Given the description of an element on the screen output the (x, y) to click on. 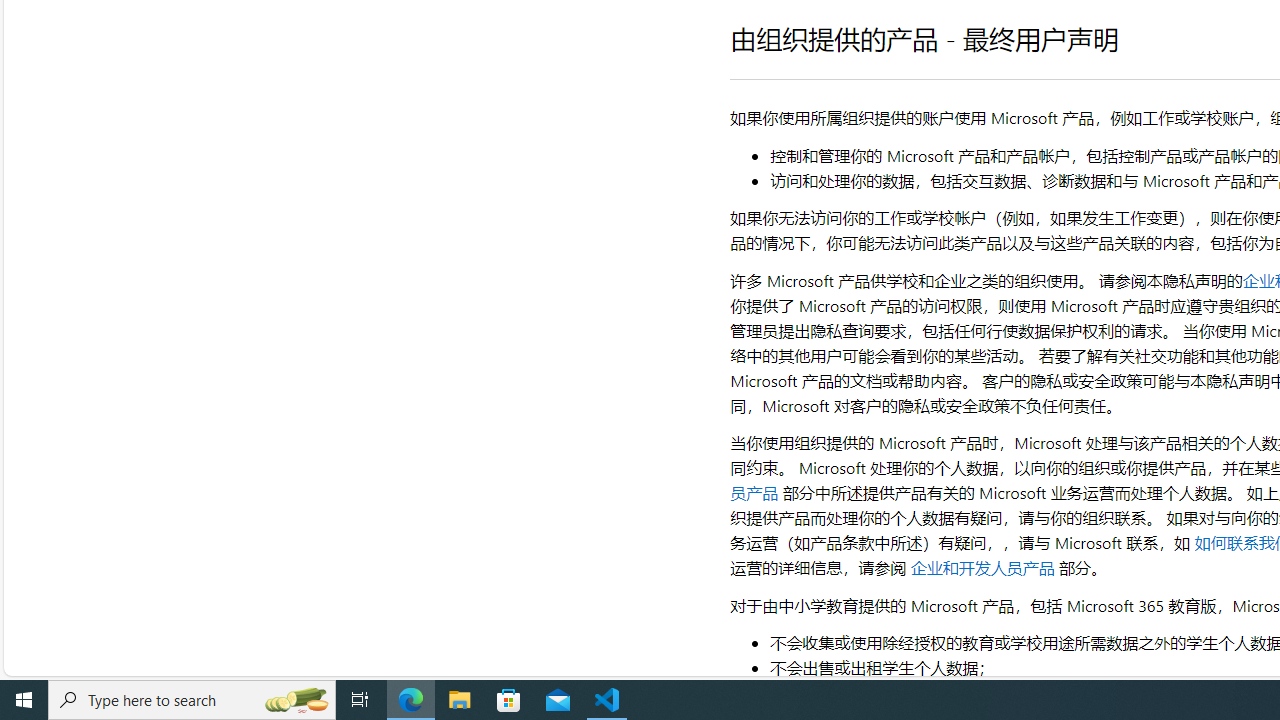
Microsoft Edge - 1 running window (411, 699)
Start (24, 699)
Type here to search (191, 699)
Search highlights icon opens search home window (295, 699)
Visual Studio Code - 1 running window (607, 699)
File Explorer (460, 699)
Task View (359, 699)
Microsoft Store (509, 699)
